Given the description of an element on the screen output the (x, y) to click on. 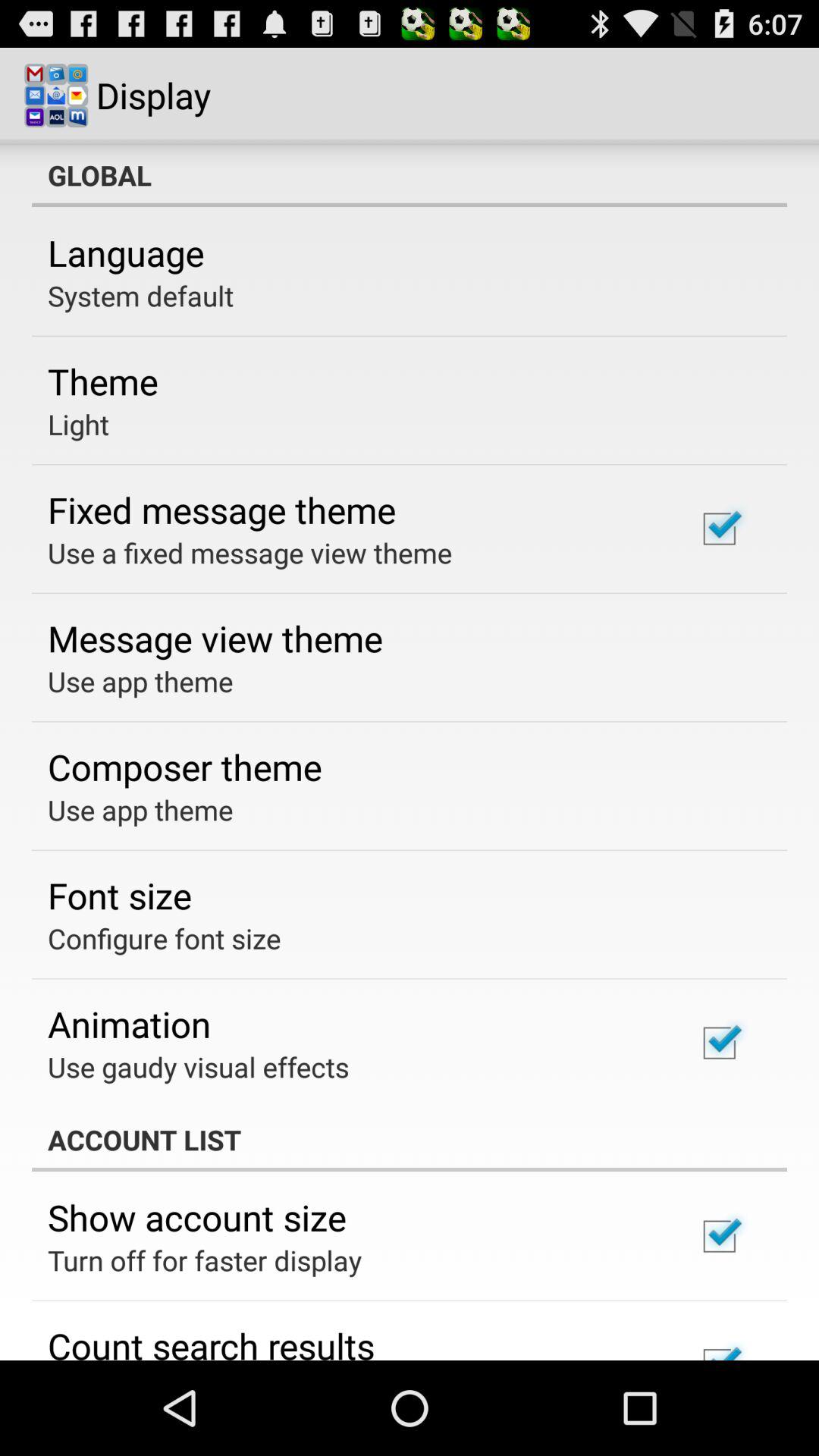
press count search results (210, 1340)
